Given the description of an element on the screen output the (x, y) to click on. 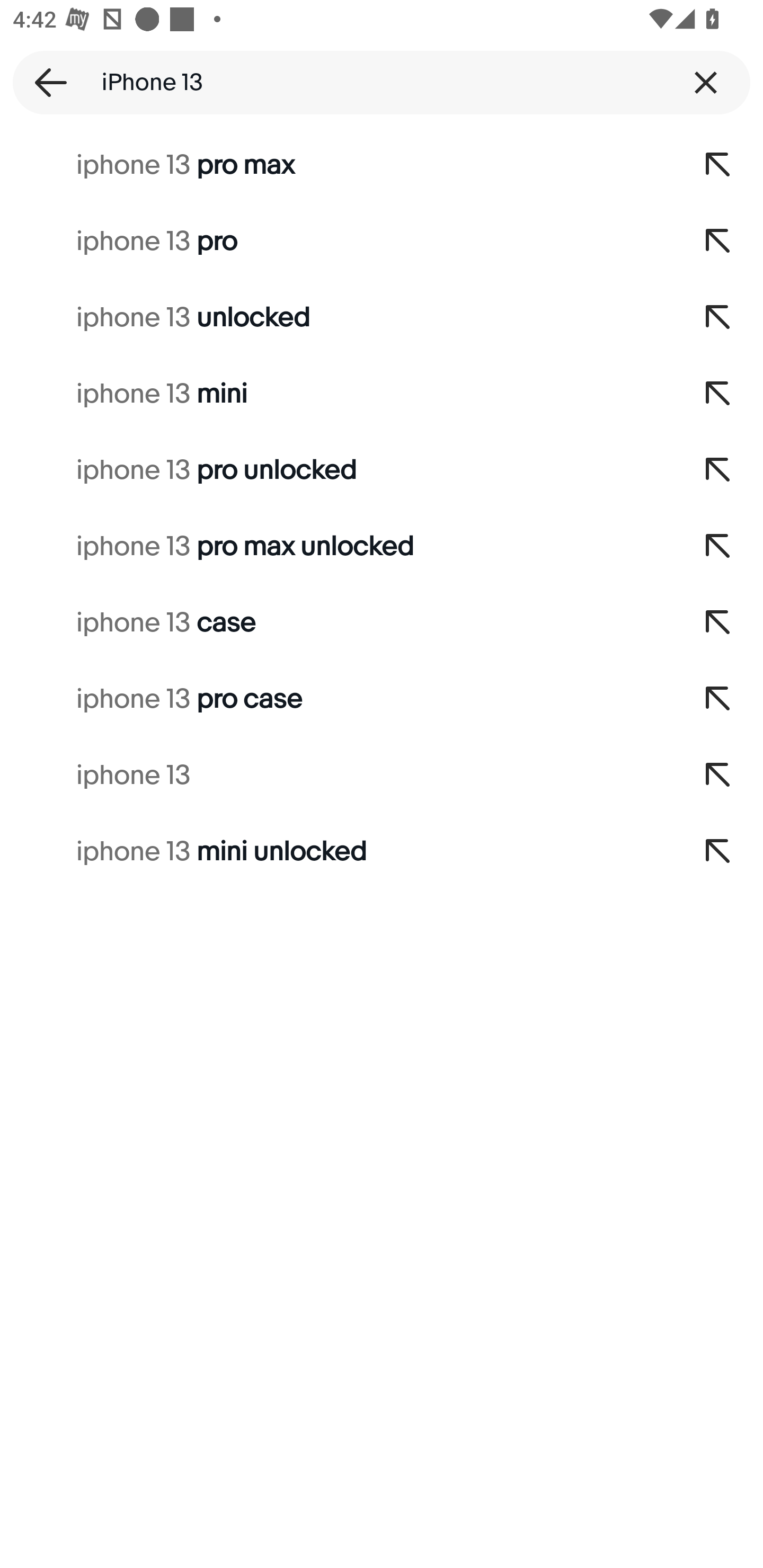
Back (44, 82)
Clear query (705, 82)
iPhone 13 (381, 82)
iphone 13 pro max (336, 165)
Add to search query,iphone 13 pro max (718, 165)
iphone 13 pro (336, 241)
Add to search query,iphone 13 pro (718, 241)
iphone 13 unlocked (336, 317)
Add to search query,iphone 13 unlocked (718, 317)
iphone 13 mini (336, 393)
Add to search query,iphone 13 mini (718, 393)
iphone 13 pro unlocked (336, 470)
Add to search query,iphone 13 pro unlocked (718, 470)
iphone 13 pro max unlocked (336, 546)
Add to search query,iphone 13 pro max unlocked (718, 546)
iphone 13 case (336, 622)
Add to search query,iphone 13 case (718, 622)
iphone 13 pro case (336, 698)
Add to search query,iphone 13 pro case (718, 698)
iphone 13 (336, 774)
